Given the description of an element on the screen output the (x, y) to click on. 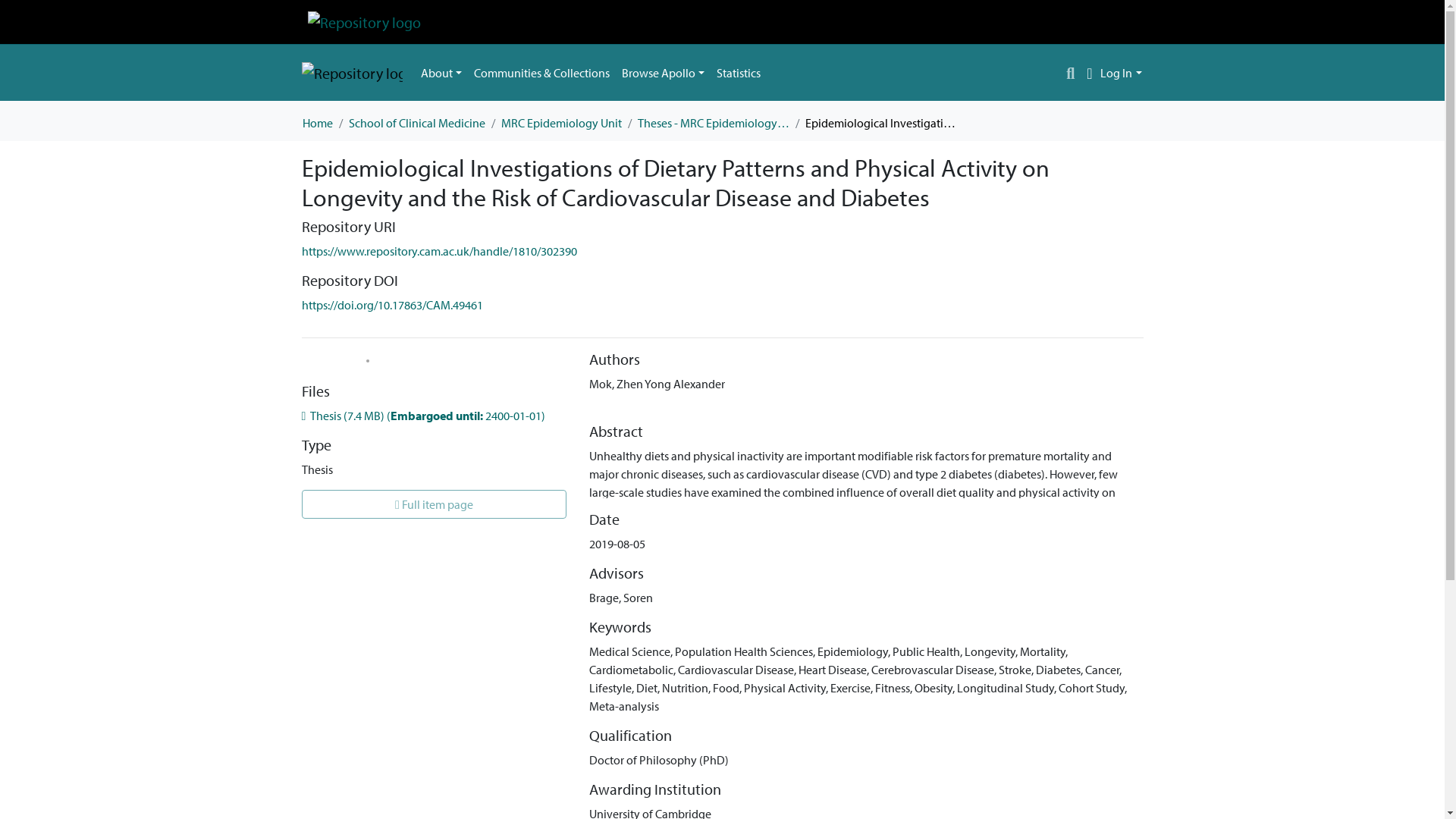
Statistics (738, 72)
Full item page (434, 503)
School of Clinical Medicine (416, 122)
Log In (1120, 72)
Statistics (738, 72)
Theses - MRC Epidemiology Unit (713, 122)
Search (1070, 72)
Home (316, 122)
Browse Apollo (662, 72)
MRC Epidemiology Unit (560, 122)
